Given the description of an element on the screen output the (x, y) to click on. 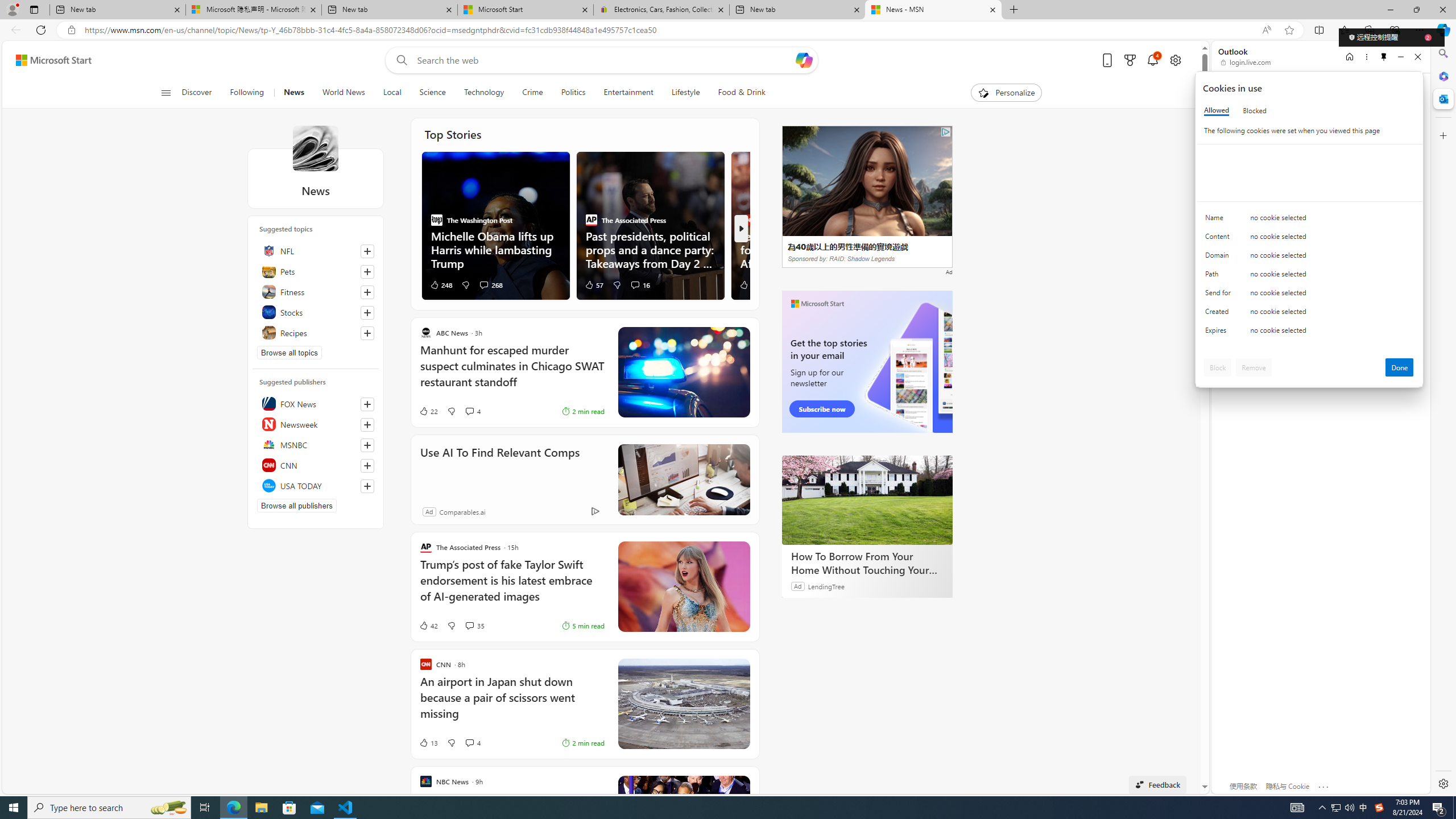
Browse all topics (289, 352)
View comments 4 Comment (469, 741)
Allowed (1216, 110)
Use AI To Find Relevant Comps (499, 467)
View comments 16 Comment (634, 284)
248 Like (441, 284)
View comments 35 Comment (469, 624)
